Given the description of an element on the screen output the (x, y) to click on. 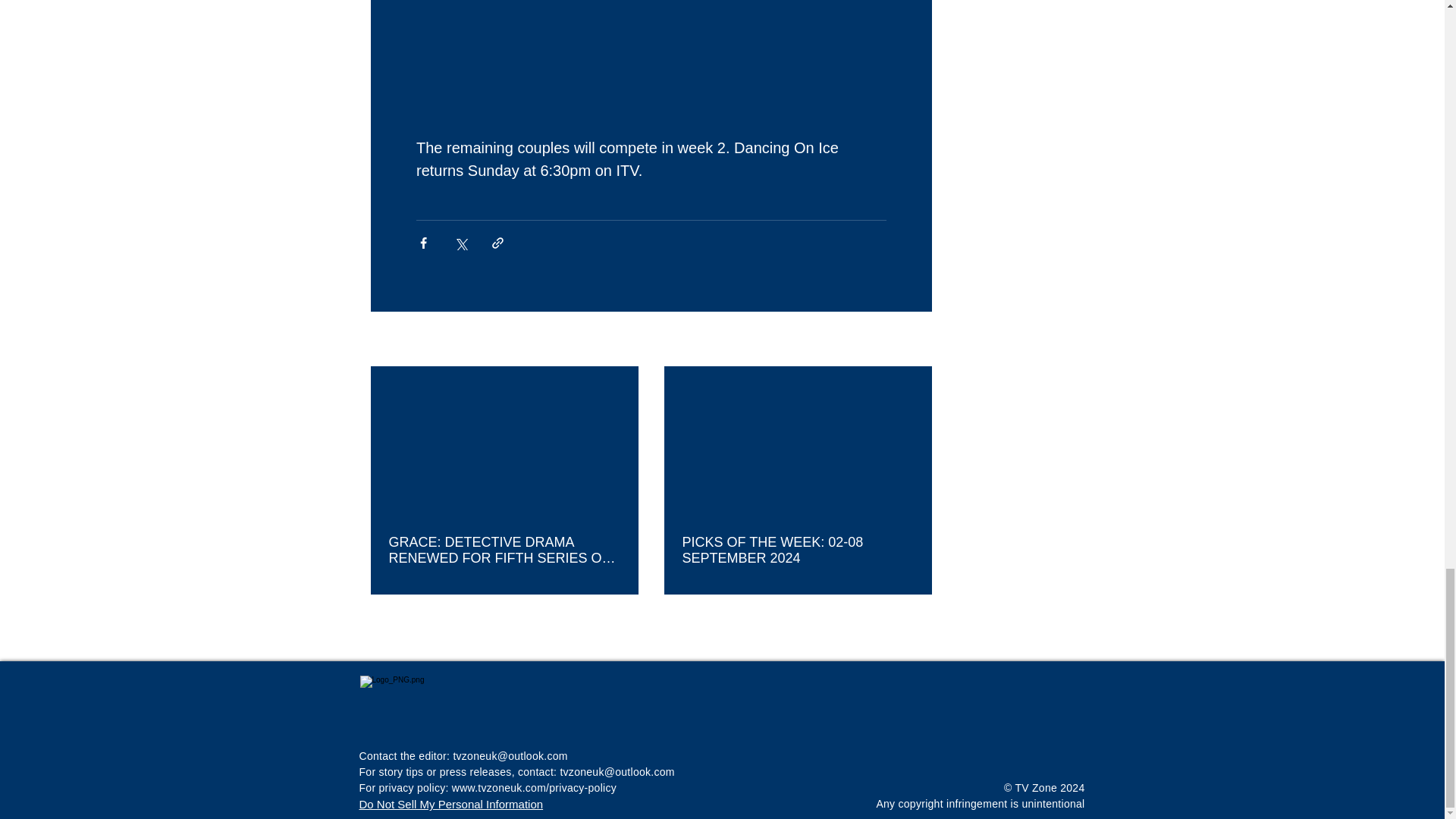
PICKS OF THE WEEK: 02-08 SEPTEMBER 2024 (798, 550)
GRACE: DETECTIVE DRAMA RENEWED FOR FIFTH SERIES ON ITV (504, 550)
See All (914, 340)
